Given the description of an element on the screen output the (x, y) to click on. 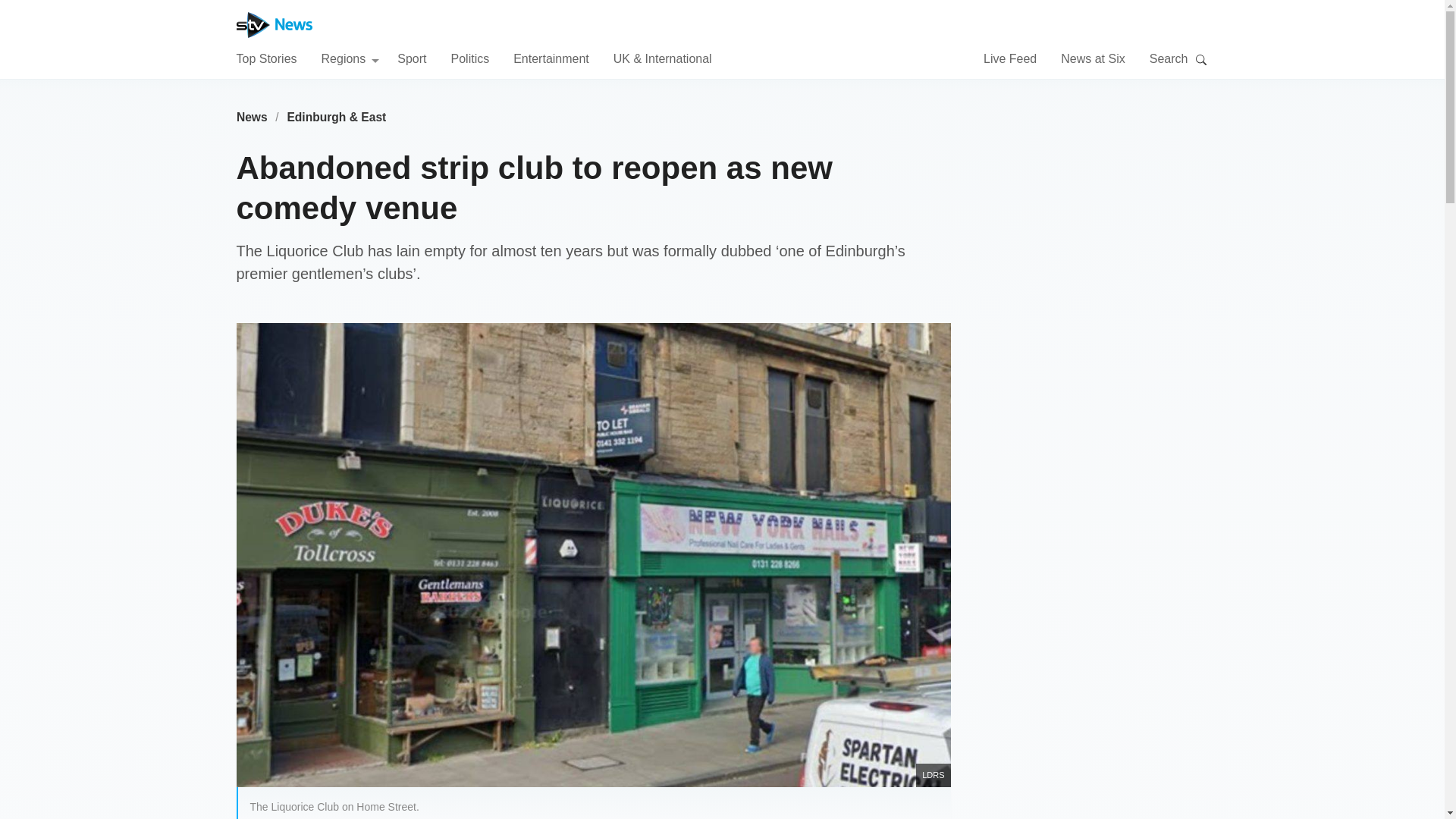
Top Stories (266, 57)
Regions (350, 57)
News (252, 116)
Search (1201, 59)
Entertainment (551, 57)
News at Six (1092, 57)
Live Feed (1010, 57)
Politics (469, 57)
